Given the description of an element on the screen output the (x, y) to click on. 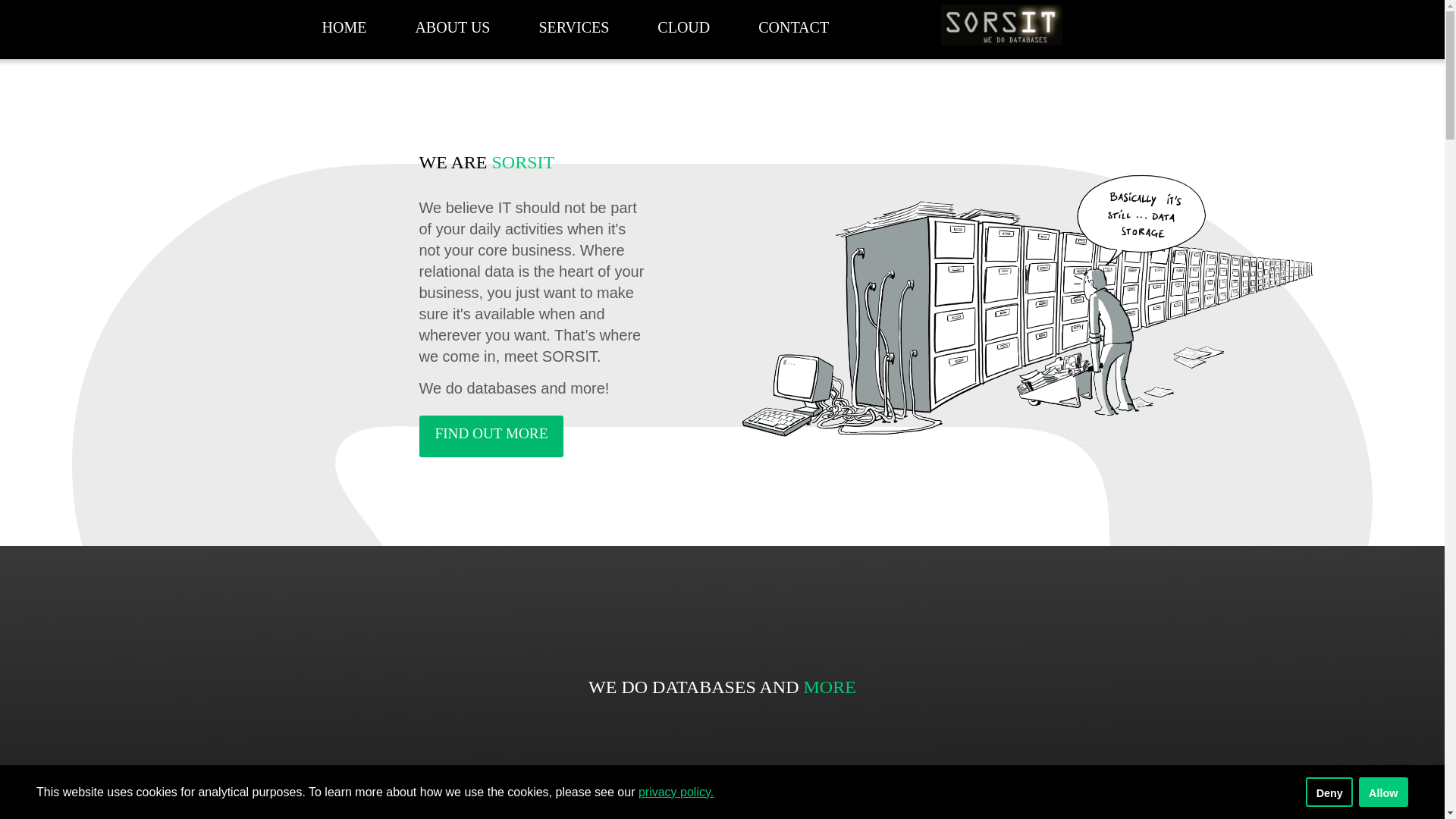
CONTACT (793, 26)
HOME (343, 26)
SERVICES (573, 26)
Deny (1329, 791)
privacy policy. (676, 791)
CLOUD (684, 26)
ABOUT US (451, 26)
FIND OUT MORE (491, 436)
Allow (1382, 791)
